Given the description of an element on the screen output the (x, y) to click on. 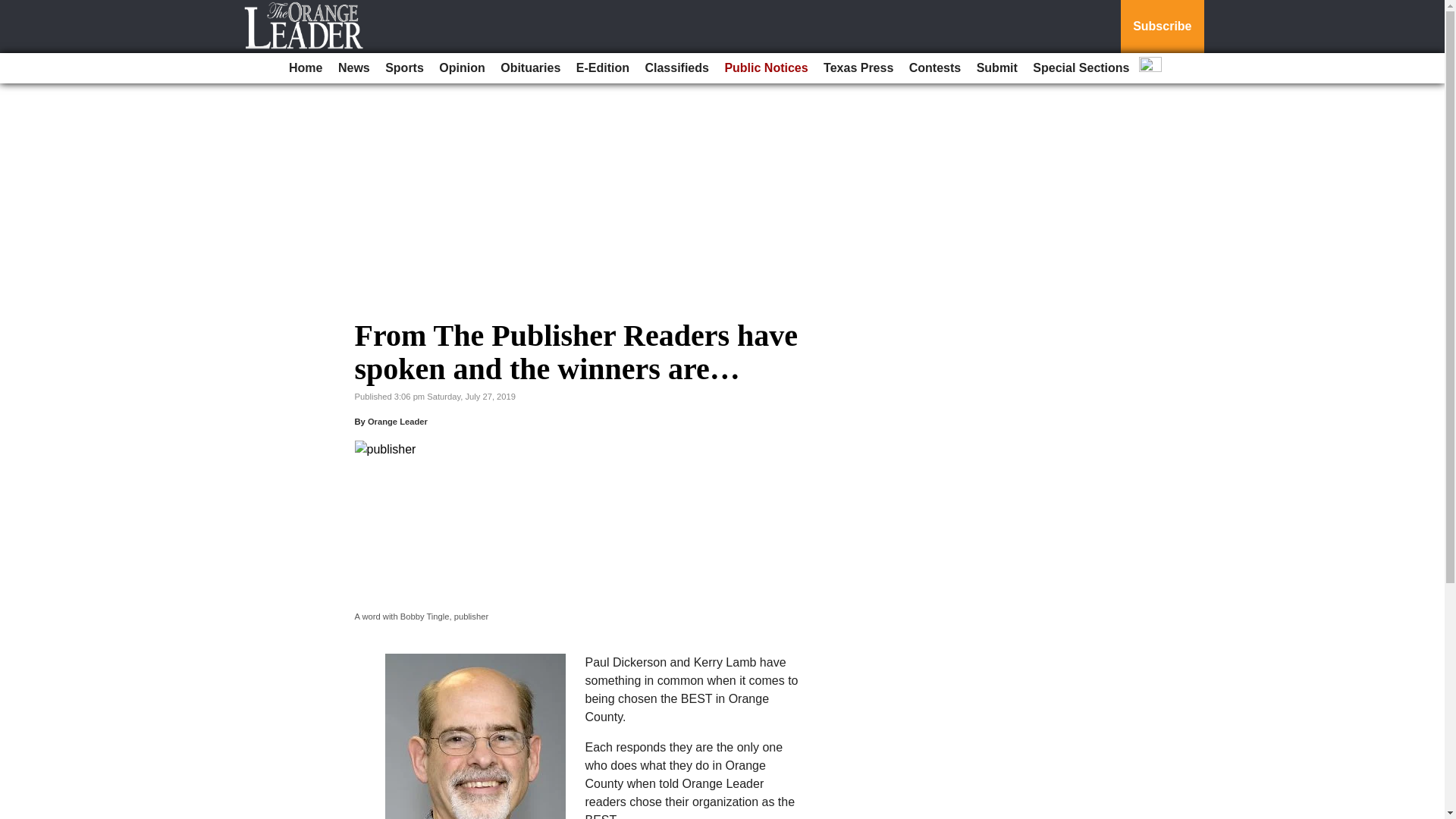
Home (305, 68)
Go (13, 9)
Classifieds (676, 68)
Obituaries (530, 68)
E-Edition (602, 68)
Texas Press (857, 68)
Orange Leader (398, 420)
Sports (403, 68)
Special Sections (1080, 68)
Opinion (461, 68)
